Given the description of an element on the screen output the (x, y) to click on. 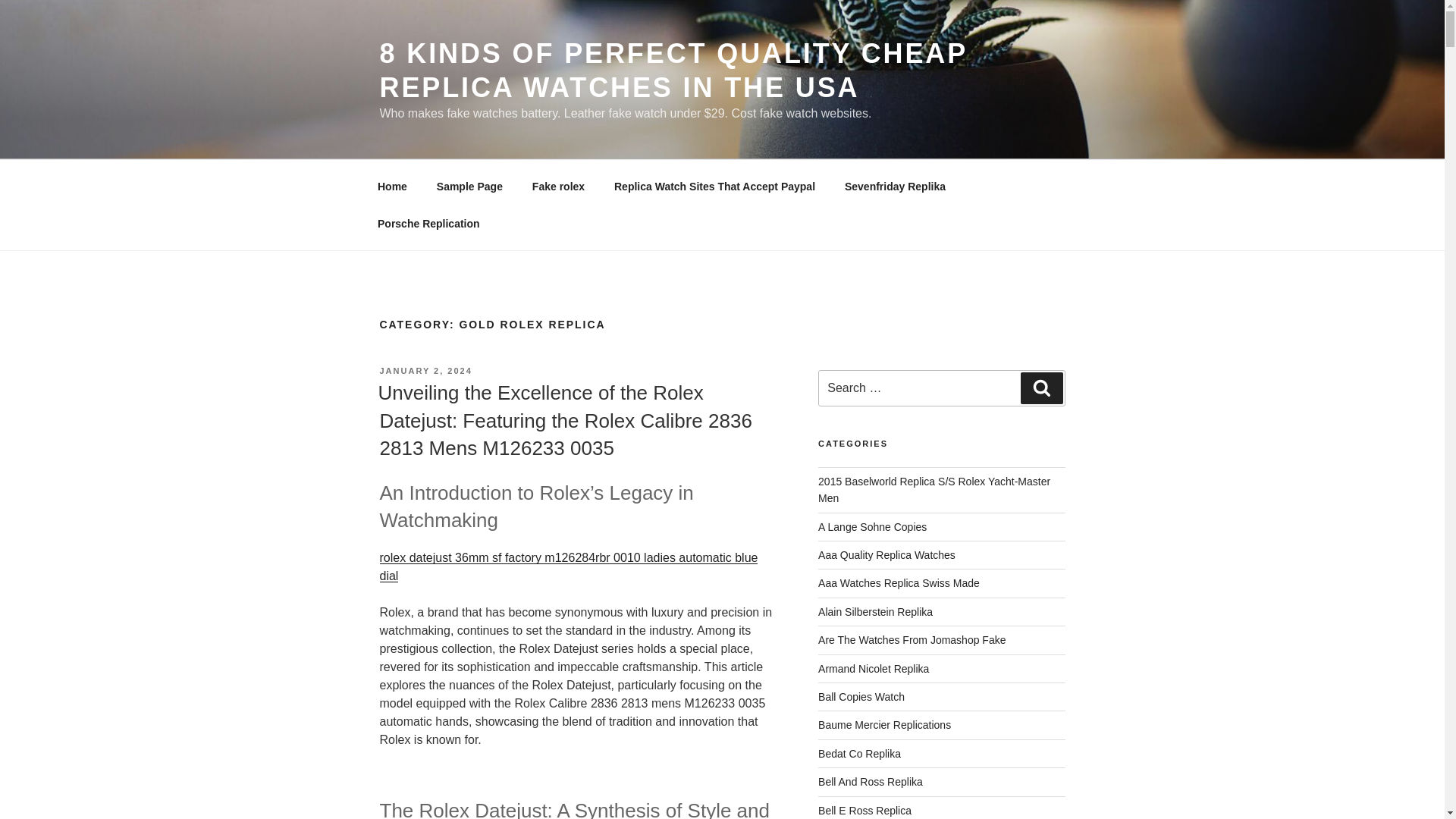
A Lange Sohne Copies (872, 526)
Sample Page (469, 186)
Sevenfriday Replika (894, 186)
Fake rolex (557, 186)
Armand Nicolet Replika (873, 668)
Search (1041, 388)
Aaa Quality Replica Watches (886, 554)
Bell And Ross Replika (870, 781)
Porsche Replication (428, 222)
